Given the description of an element on the screen output the (x, y) to click on. 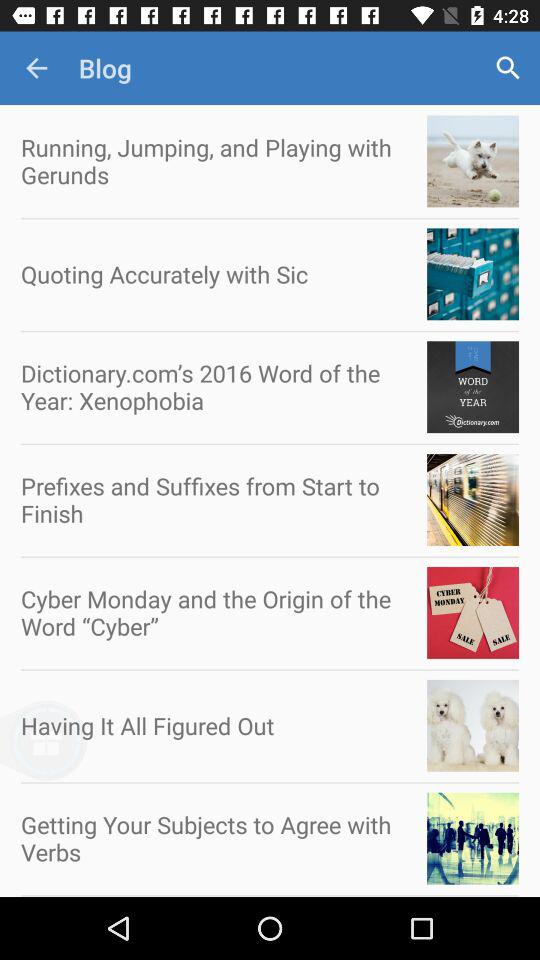
open app to the left of blog icon (36, 68)
